Given the description of an element on the screen output the (x, y) to click on. 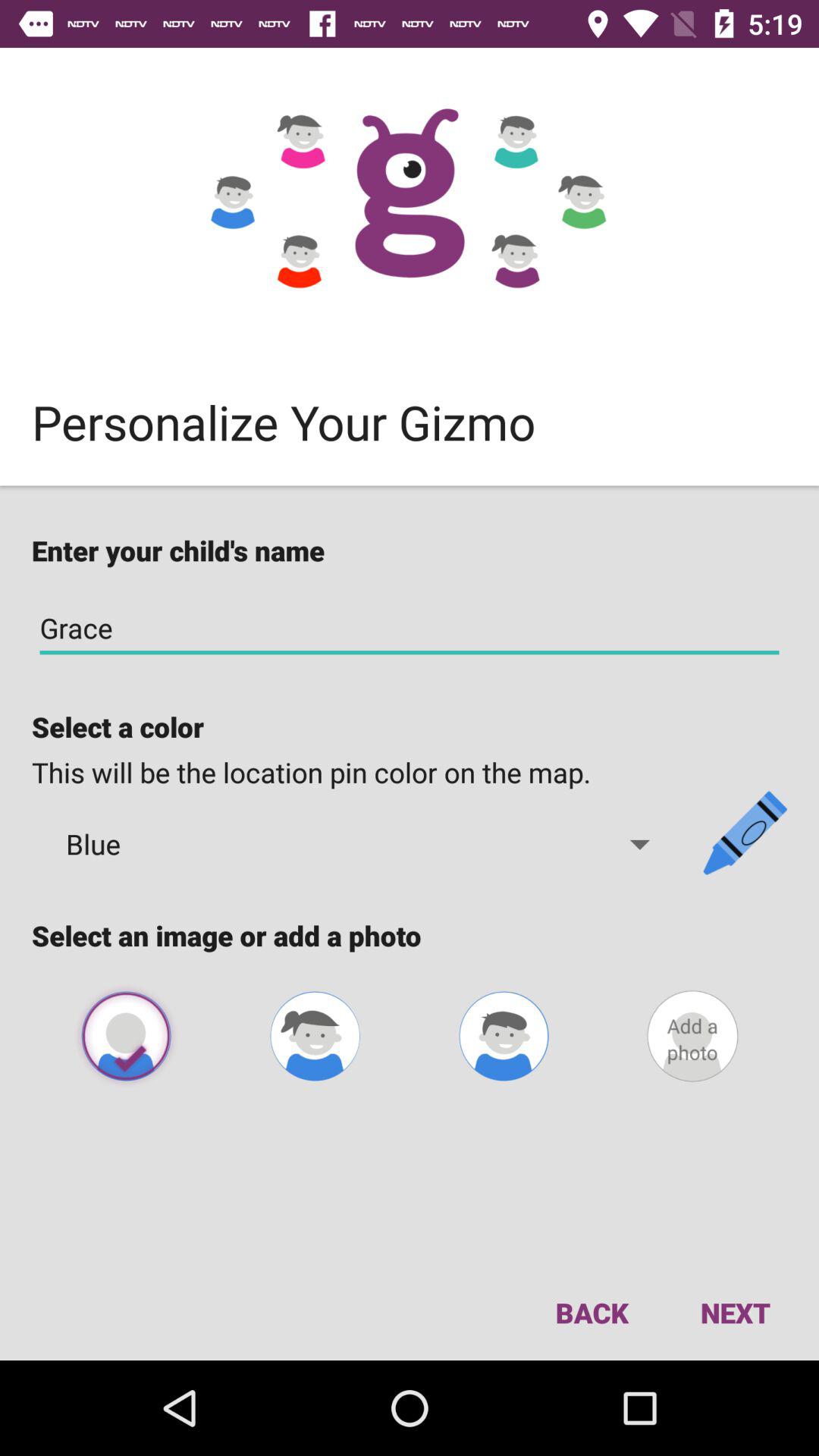
girl (314, 1036)
